Given the description of an element on the screen output the (x, y) to click on. 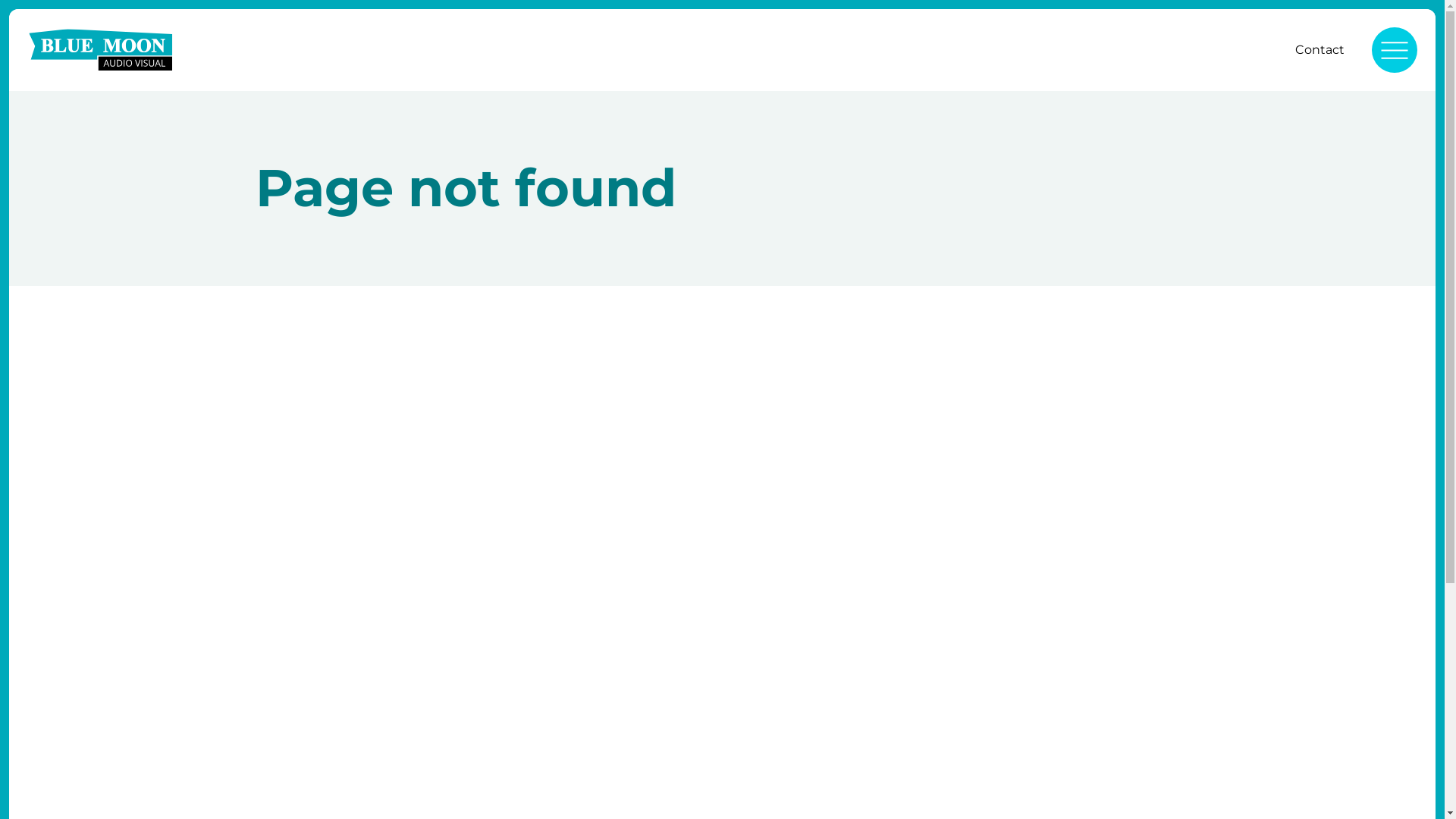
Contact Element type: text (1319, 49)
